Given the description of an element on the screen output the (x, y) to click on. 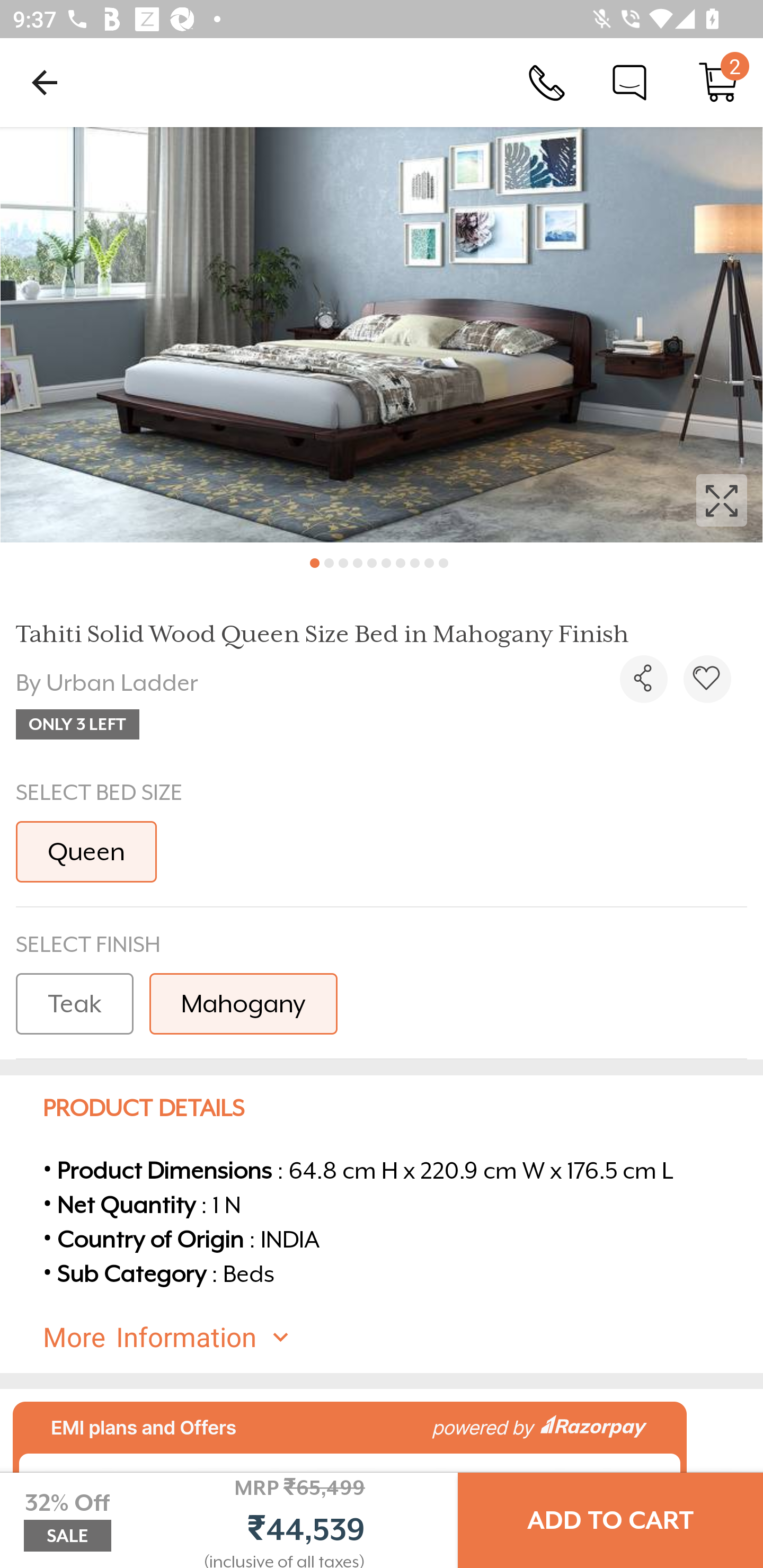
Navigate up (44, 82)
Call Us (546, 81)
Chat (629, 81)
Cart (718, 81)
 (381, 334)
 (643, 678)
 (706, 678)
Queen (86, 851)
Teak (74, 1003)
Mahogany (243, 1003)
More Information  (396, 1337)
ADD TO CART (610, 1520)
